Given the description of an element on the screen output the (x, y) to click on. 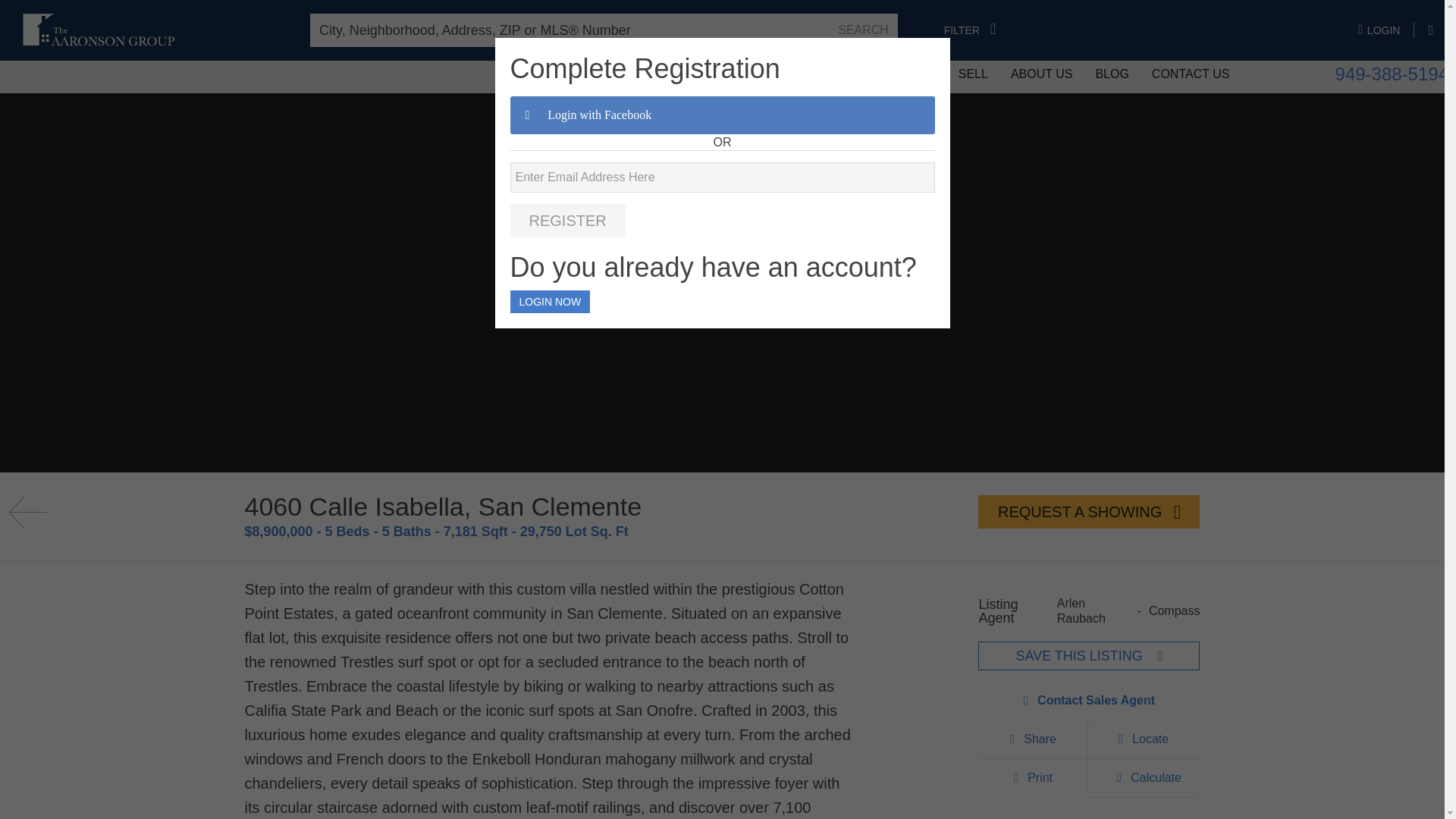
SEARCH (863, 29)
FILTER (969, 29)
LOGIN (1385, 29)
